Given the description of an element on the screen output the (x, y) to click on. 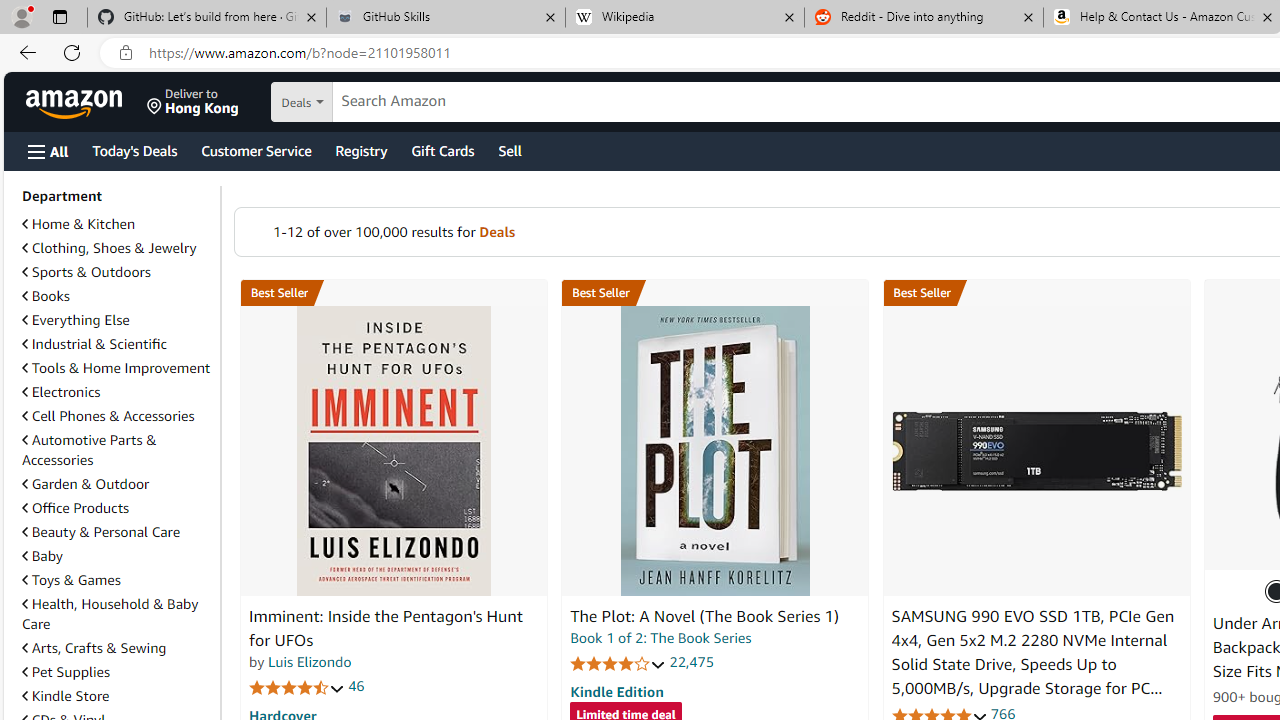
Garden & Outdoor (85, 484)
Book 1 of 2: The Book Series (660, 638)
Office Products (75, 507)
Books (117, 295)
Imminent: Inside the Pentagon's Hunt for UFOs (393, 451)
Everything Else (75, 320)
Baby (117, 555)
Automotive Parts & Accessories (89, 449)
Pet Supplies (117, 671)
Amazon (76, 101)
The Plot: A Novel (The Book Series 1) (703, 616)
